Given the description of an element on the screen output the (x, y) to click on. 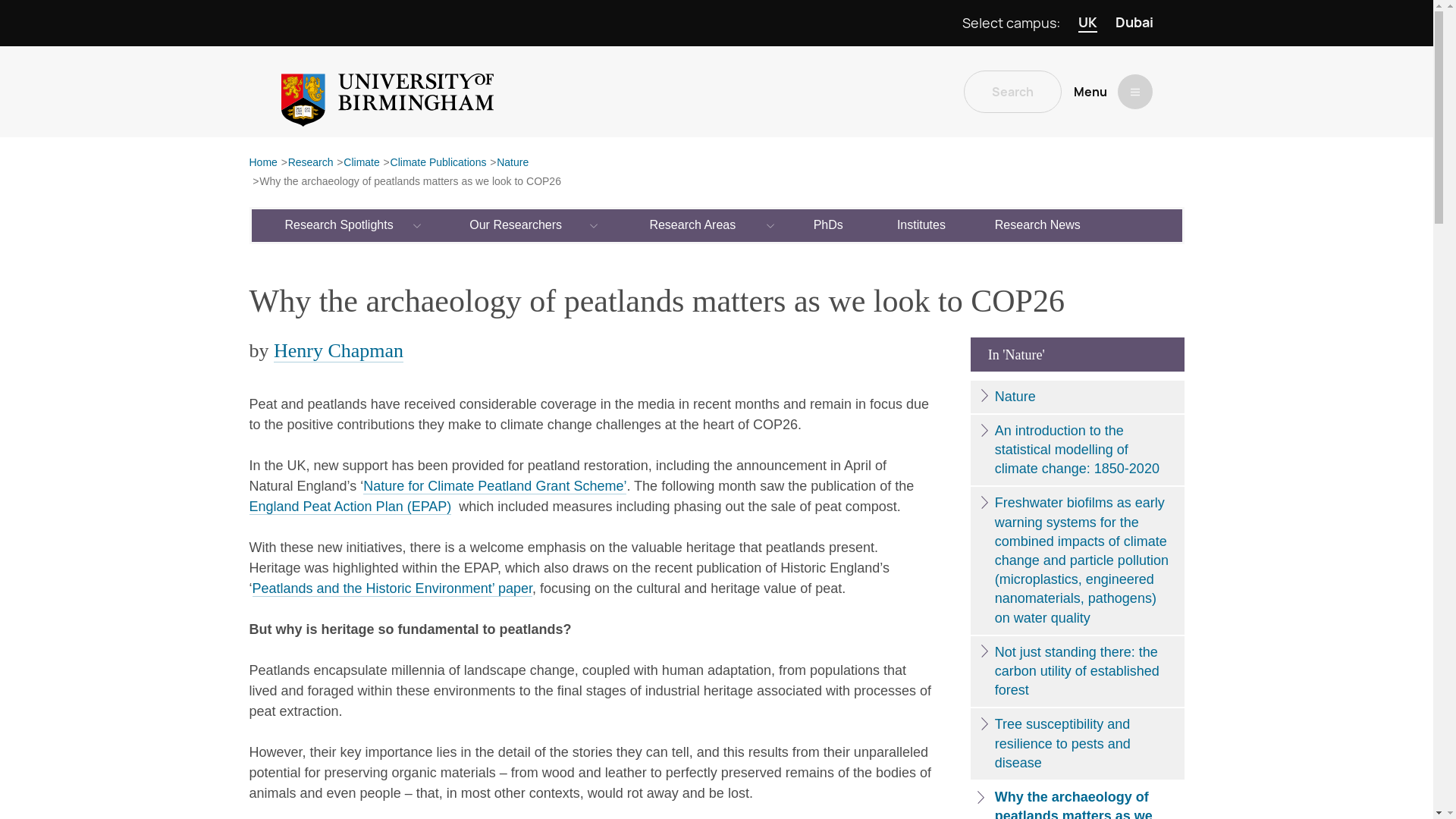
Nature (512, 163)
Research Spotlights (339, 224)
Our Researchers (516, 224)
Climate (360, 163)
Why the archaeology of peatlands matters as we look to COP26 (409, 182)
UK (1087, 23)
Climate Publications (438, 163)
Dubai (1134, 23)
Home (262, 163)
Search (1012, 91)
Research Areas (693, 224)
Research (310, 163)
